Given the description of an element on the screen output the (x, y) to click on. 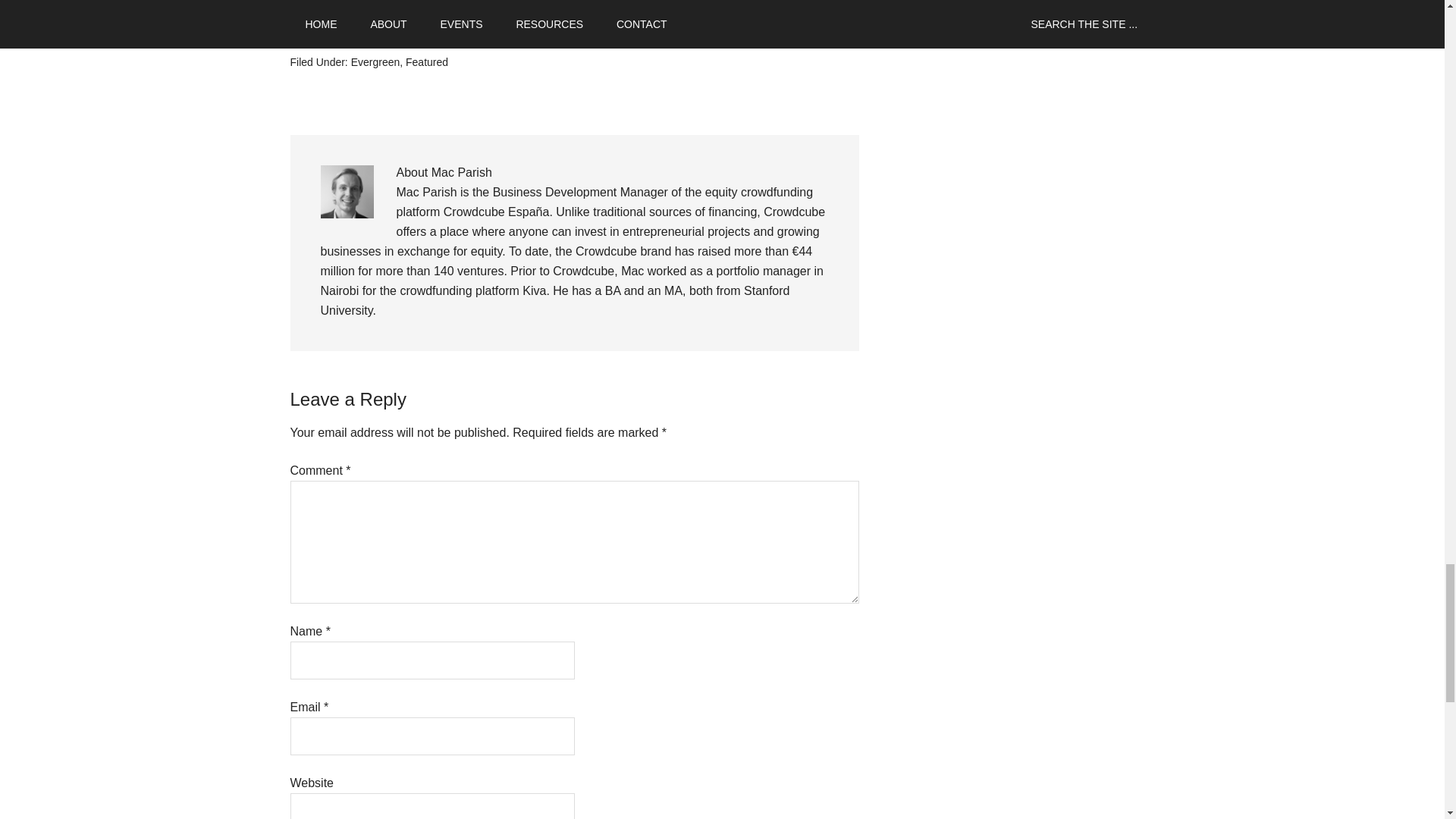
Click to share on Pinterest (442, 31)
Click to share on Buffer (469, 32)
Click to share on Tumblr (413, 31)
Click to share on LinkedIn (386, 31)
Click to email this to a friend (498, 31)
Click to share on Facebook (301, 31)
Click to share on Twitter (330, 31)
